Given the description of an element on the screen output the (x, y) to click on. 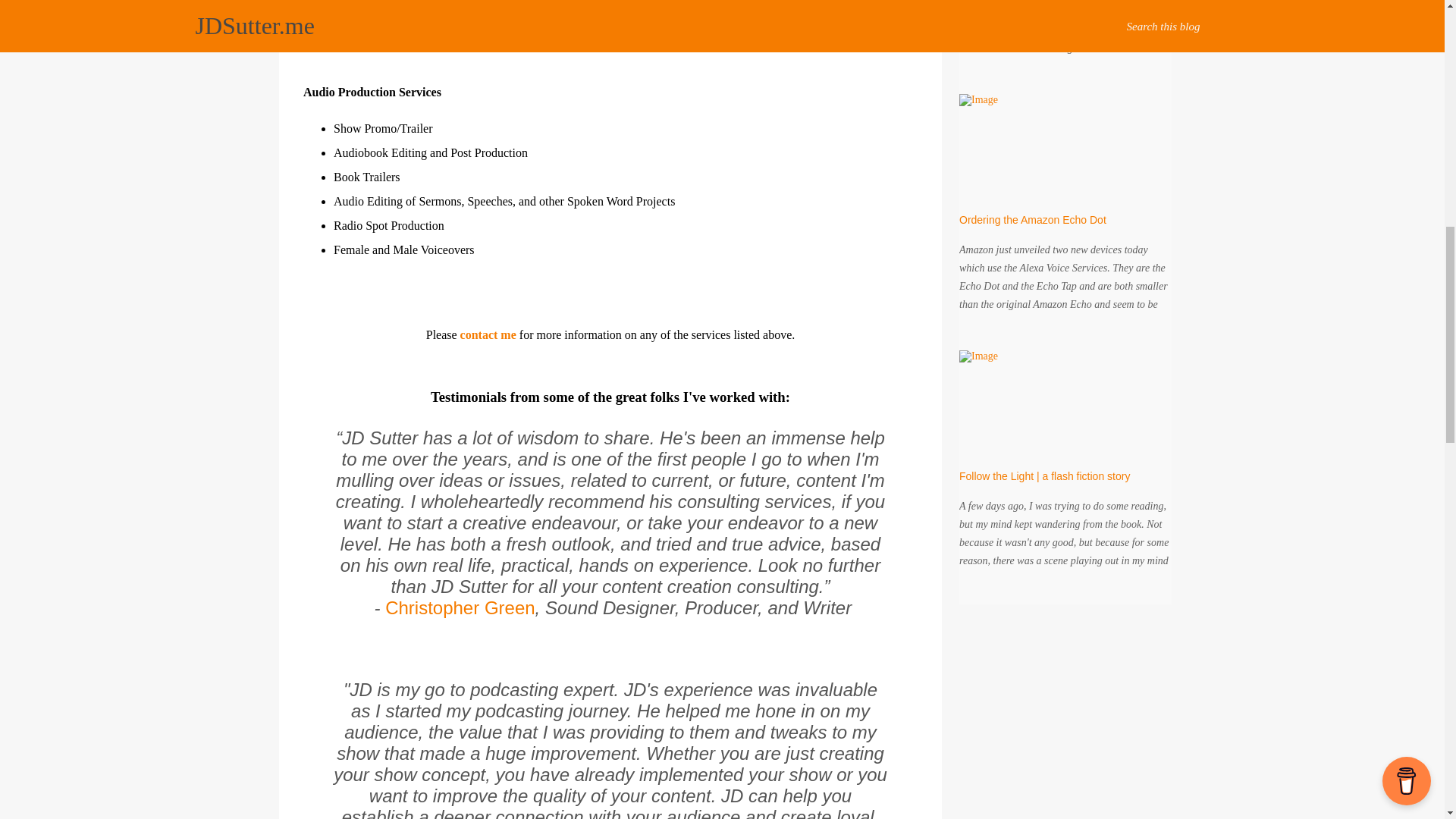
Christopher Green (459, 607)
Ordering the Amazon Echo Dot (1032, 219)
contact me (488, 334)
